Given the description of an element on the screen output the (x, y) to click on. 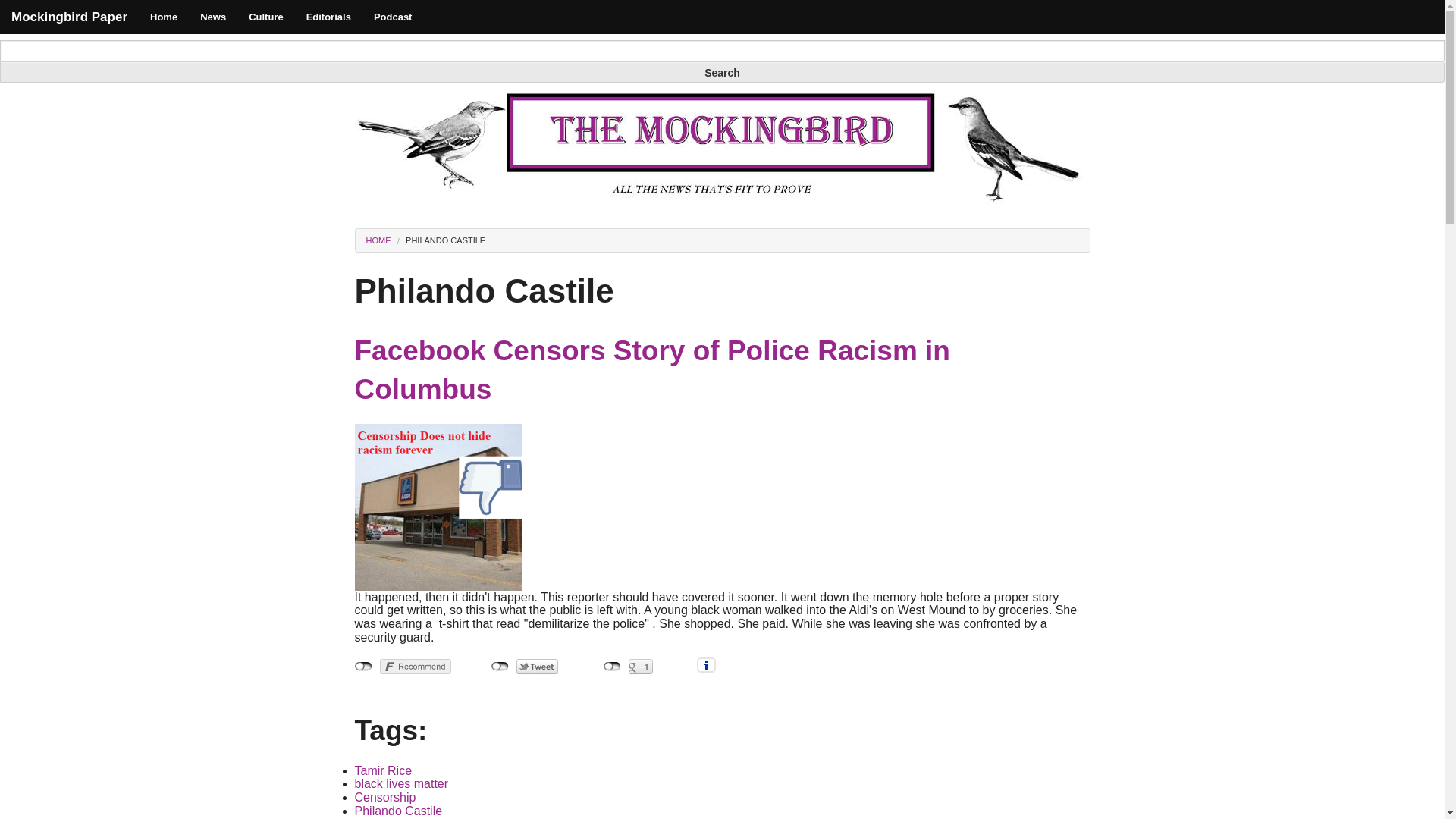
Censorship (385, 797)
News (213, 17)
Mockingbird Paper Home (69, 17)
PHILANDO CASTILE (445, 239)
Facebook Censors Story of Police Racism in Columbus (652, 369)
HOME (377, 239)
Podcast (392, 17)
Philando Castile (398, 810)
Korryn Gaines (393, 818)
not connected to Facebook (363, 665)
Tamir Rice (383, 770)
Home (163, 17)
Editorials (328, 17)
Mockingbird Paper (69, 17)
